Given the description of an element on the screen output the (x, y) to click on. 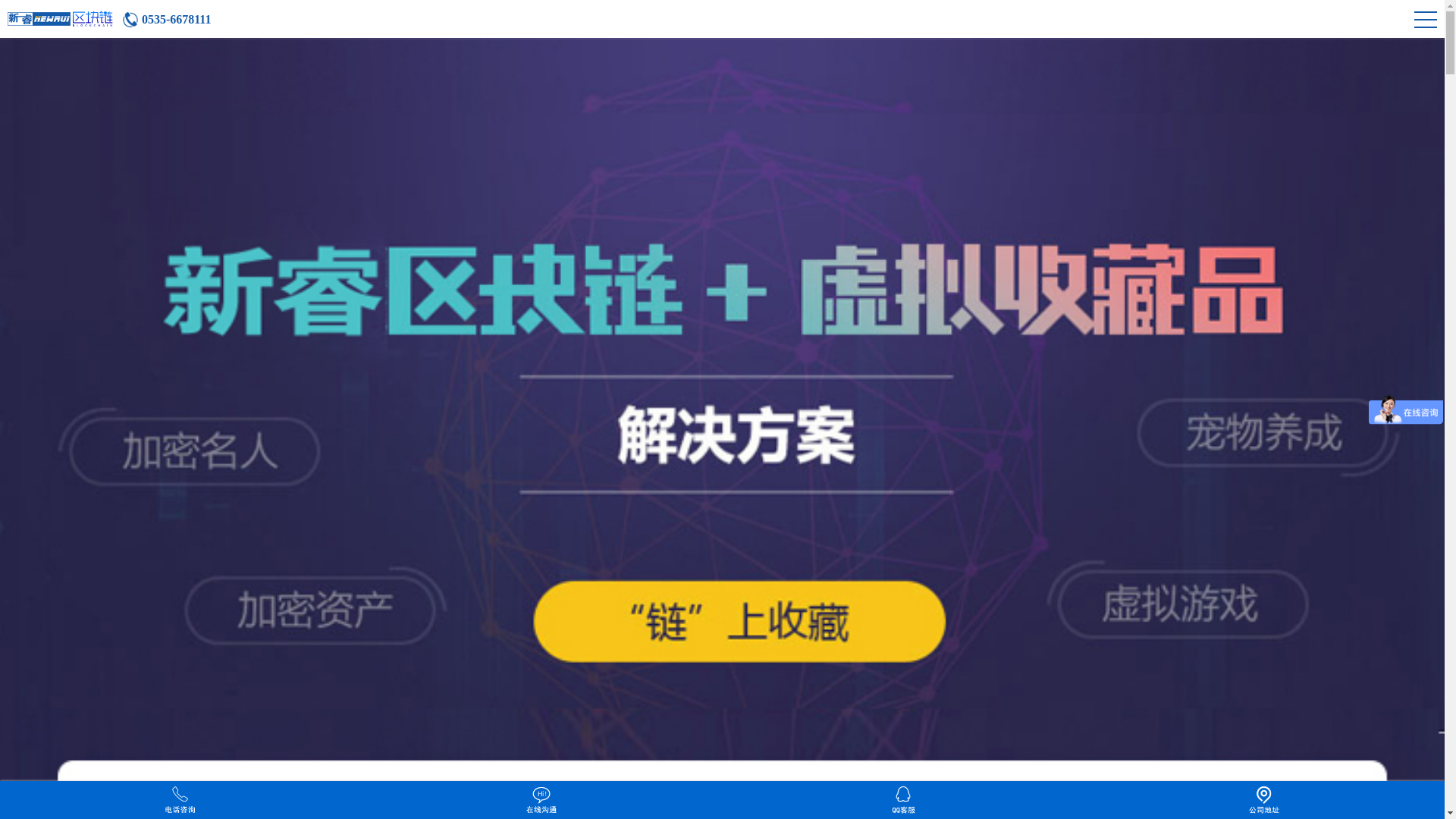
0535-6678111 Element type: text (166, 19)
